Given the description of an element on the screen output the (x, y) to click on. 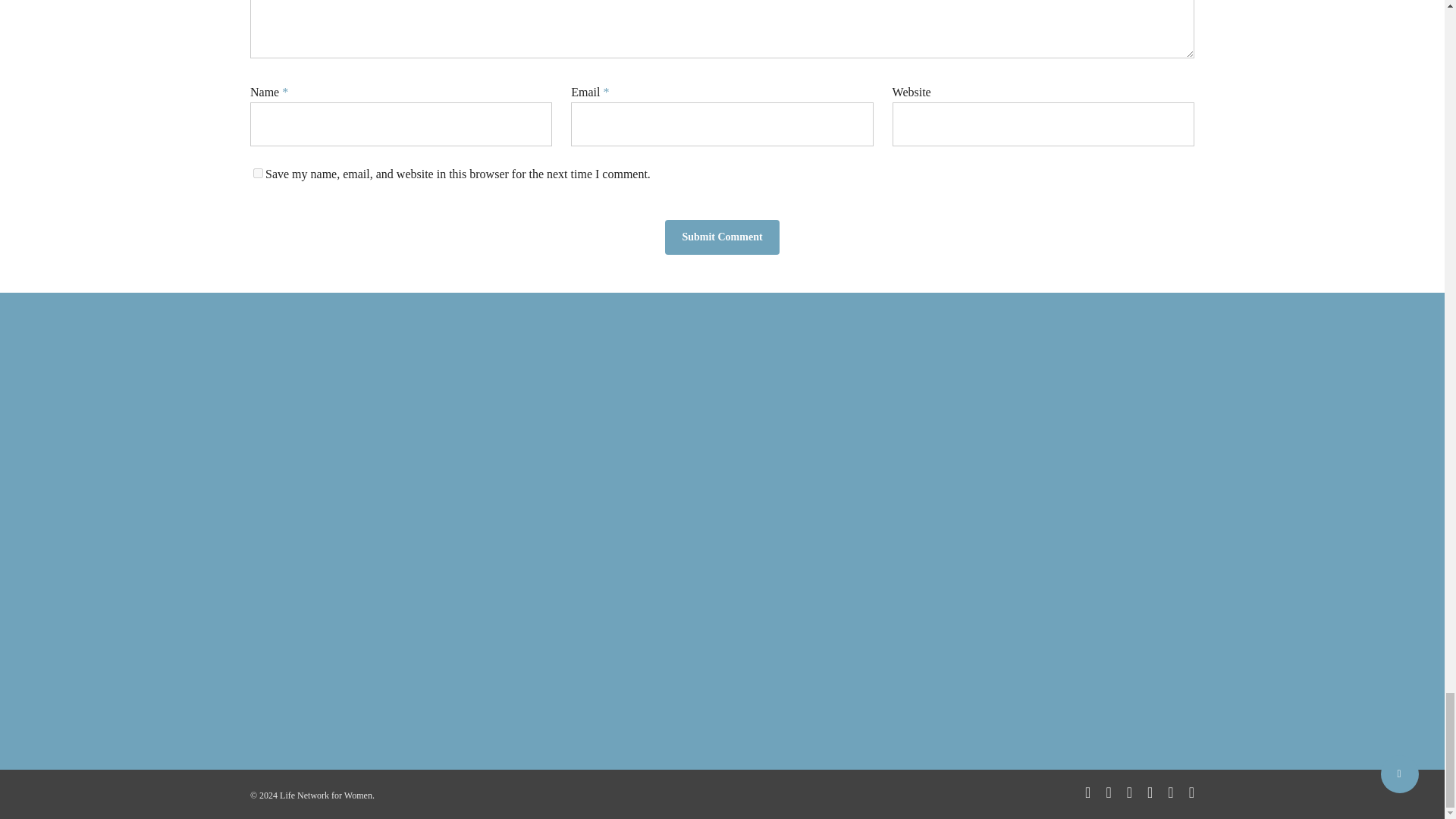
yes (258, 173)
Submit Comment (721, 237)
